Given the description of an element on the screen output the (x, y) to click on. 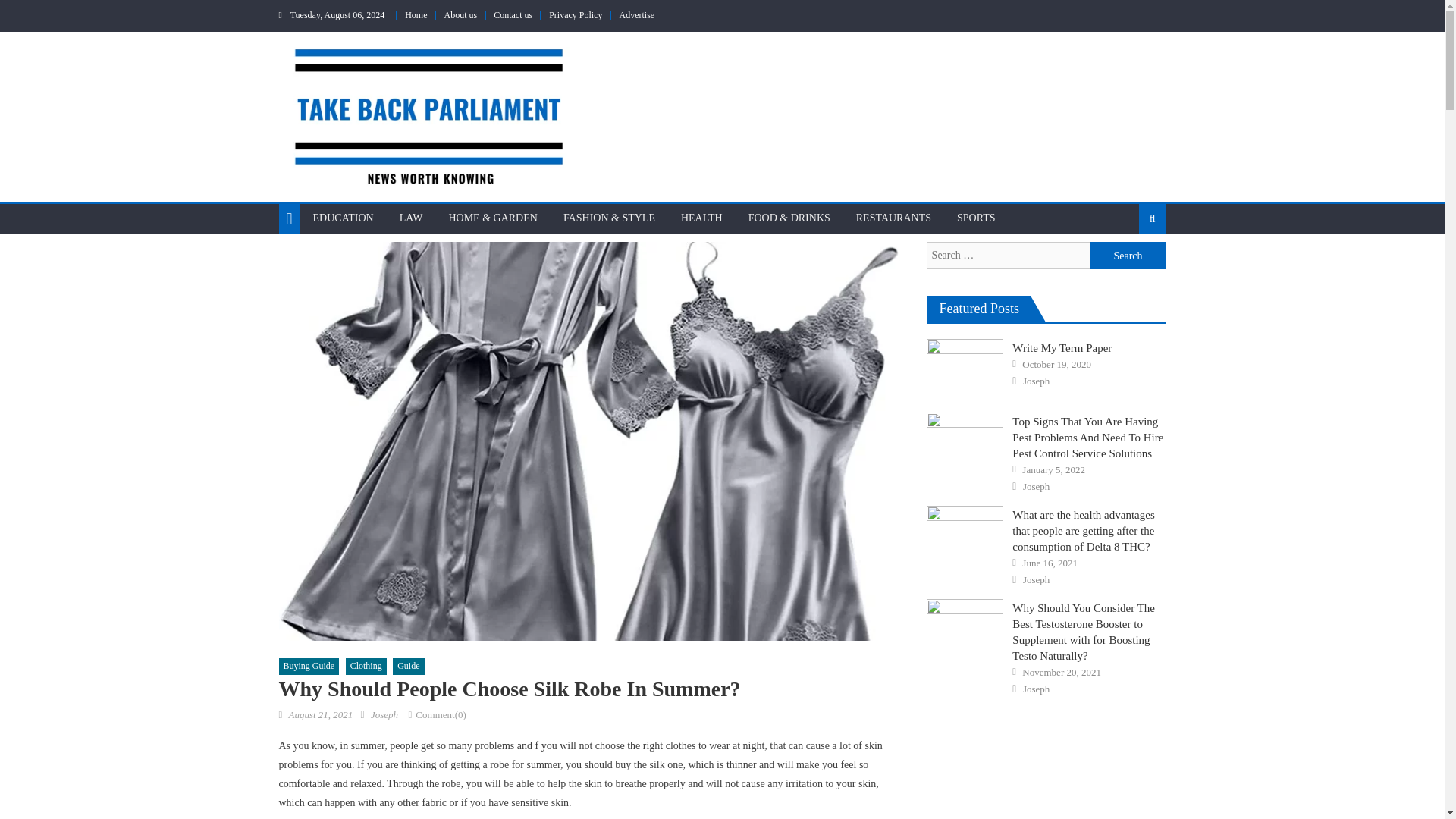
Guide (408, 666)
Advertise (635, 14)
Contact us (512, 14)
SPORTS (975, 217)
Search (1128, 255)
LAW (410, 217)
Home (415, 14)
Write My Term Paper (964, 366)
Joseph (384, 714)
Search (1128, 267)
Search (1128, 255)
Clothing (366, 666)
EDUCATION (343, 217)
